Given the description of an element on the screen output the (x, y) to click on. 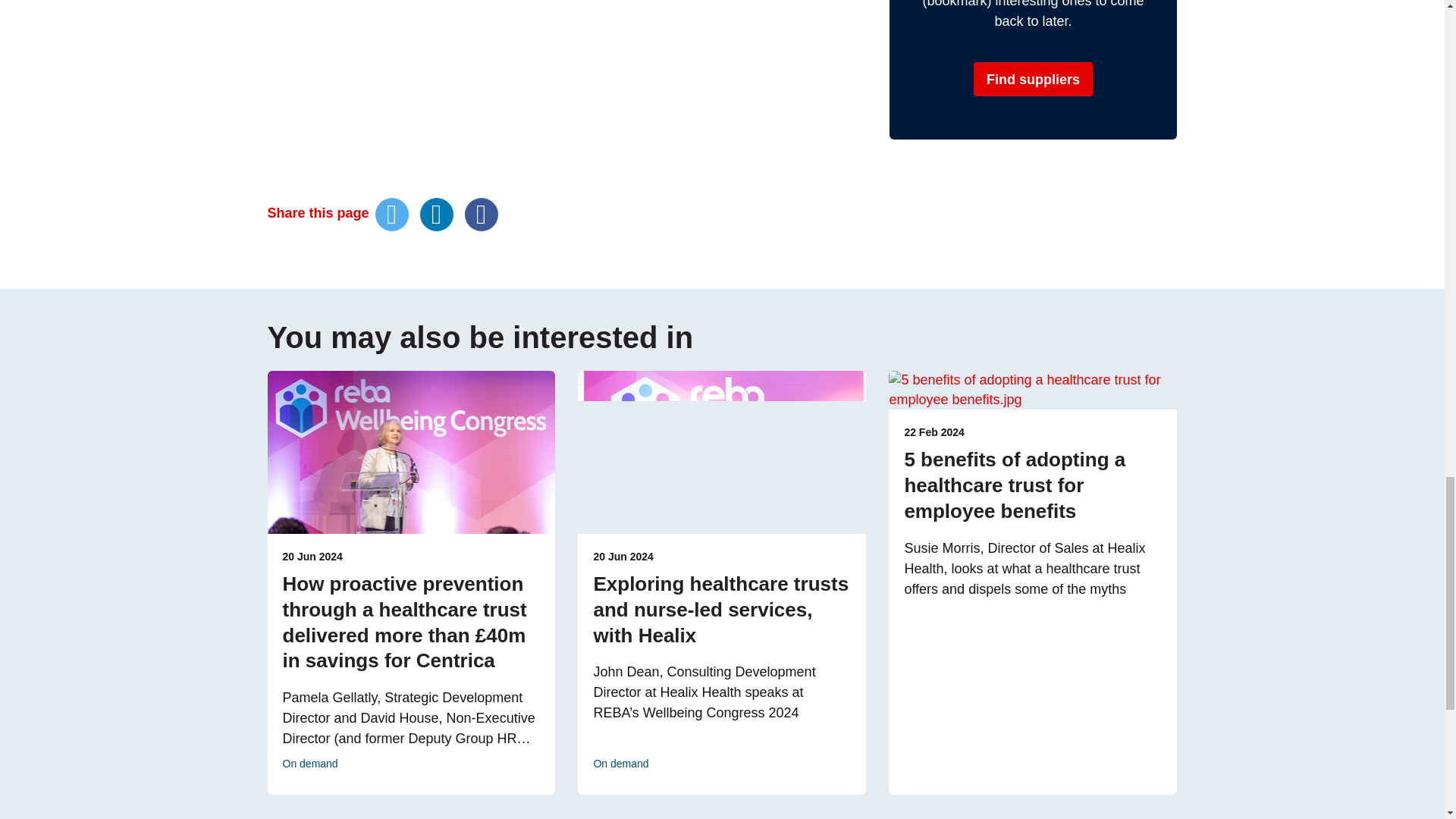
linkedin (436, 214)
facebook (480, 214)
twitter (392, 214)
